Given the description of an element on the screen output the (x, y) to click on. 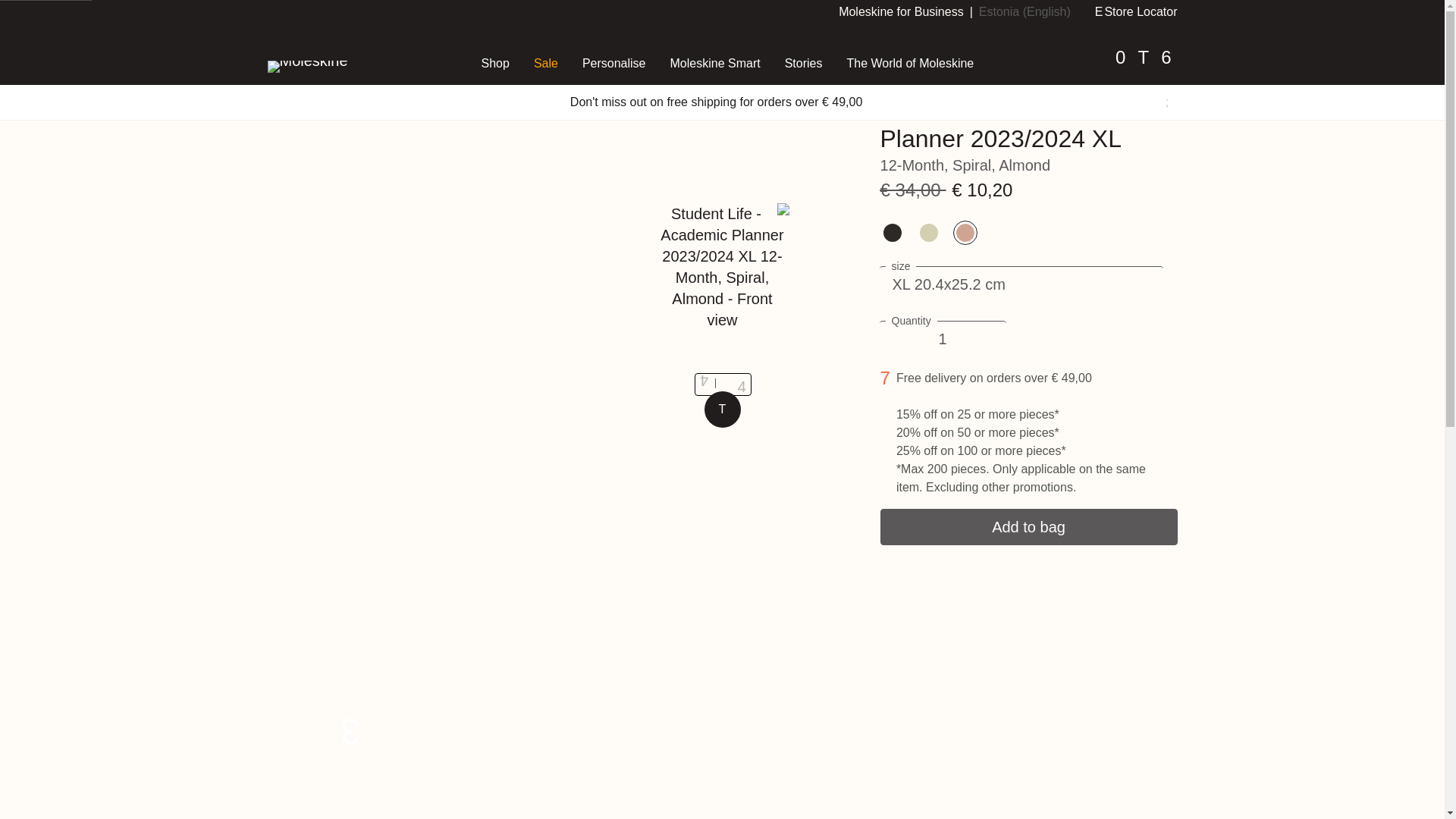
Planners (374, 21)
Moleskine Home (346, 64)
Student Life Academic Planner 2023-2024 XL 12-Month, Spiral (746, 21)
1 (942, 339)
Choose your country (1024, 11)
Home (282, 21)
Sign in (1120, 66)
Shop (325, 21)
Academic Planner Collection (488, 21)
Moleskine for Business (900, 11)
Store Locator (1135, 11)
